Given the description of an element on the screen output the (x, y) to click on. 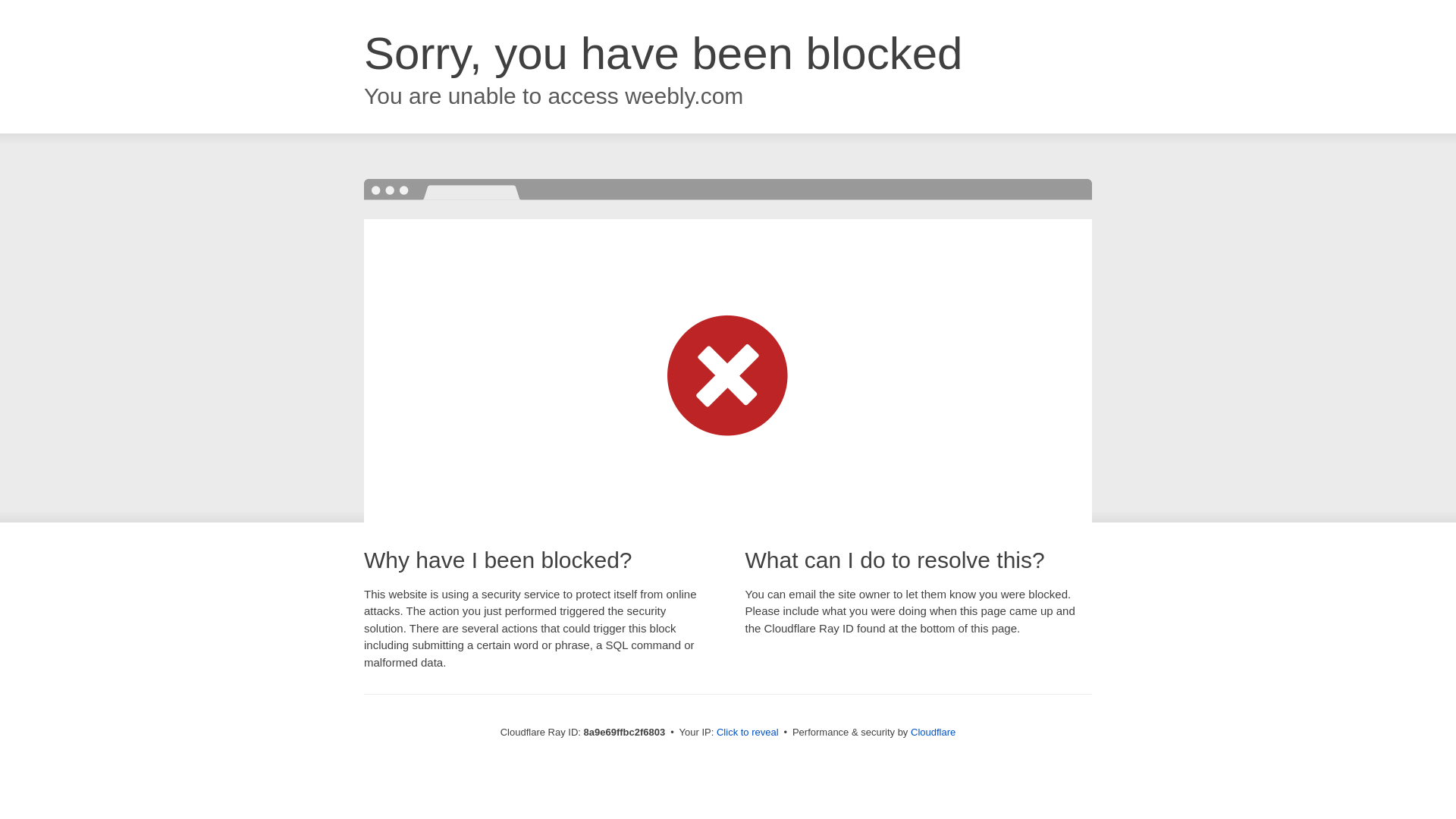
Click to reveal (747, 732)
Cloudflare (933, 731)
